Given the description of an element on the screen output the (x, y) to click on. 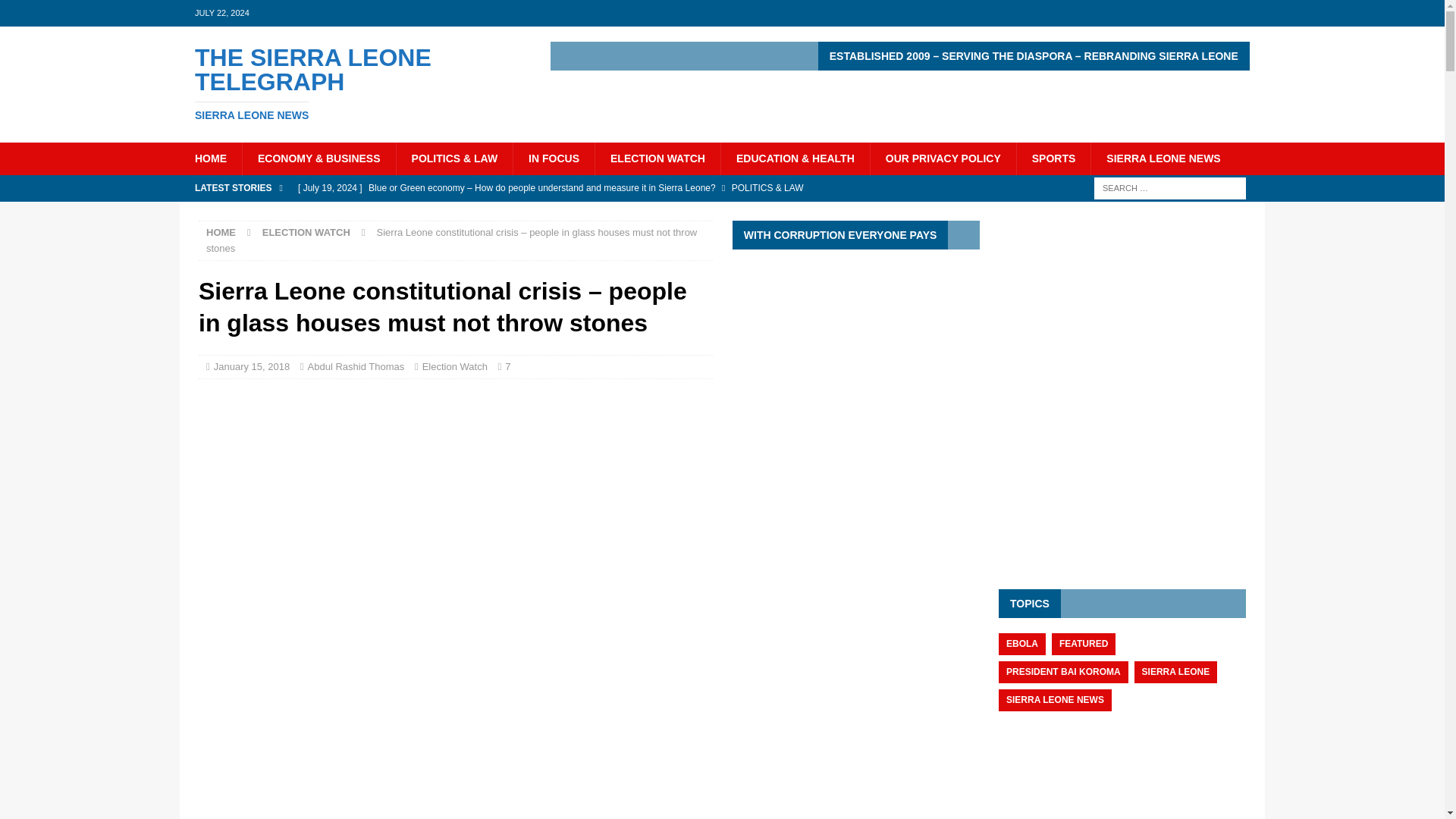
SIERRA LEONE NEWS (1162, 158)
IN FOCUS (553, 158)
HOME (220, 232)
ELECTION WATCH (306, 232)
ELECTION WATCH (657, 158)
OUR PRIVACY POLICY (942, 158)
The Sierra Leone Telegraph (351, 83)
SPORTS (1053, 158)
Abdul Rashid Thomas (355, 366)
January 15, 2018 (251, 366)
Election Watch (351, 83)
HOME (454, 366)
Search (210, 158)
